Given the description of an element on the screen output the (x, y) to click on. 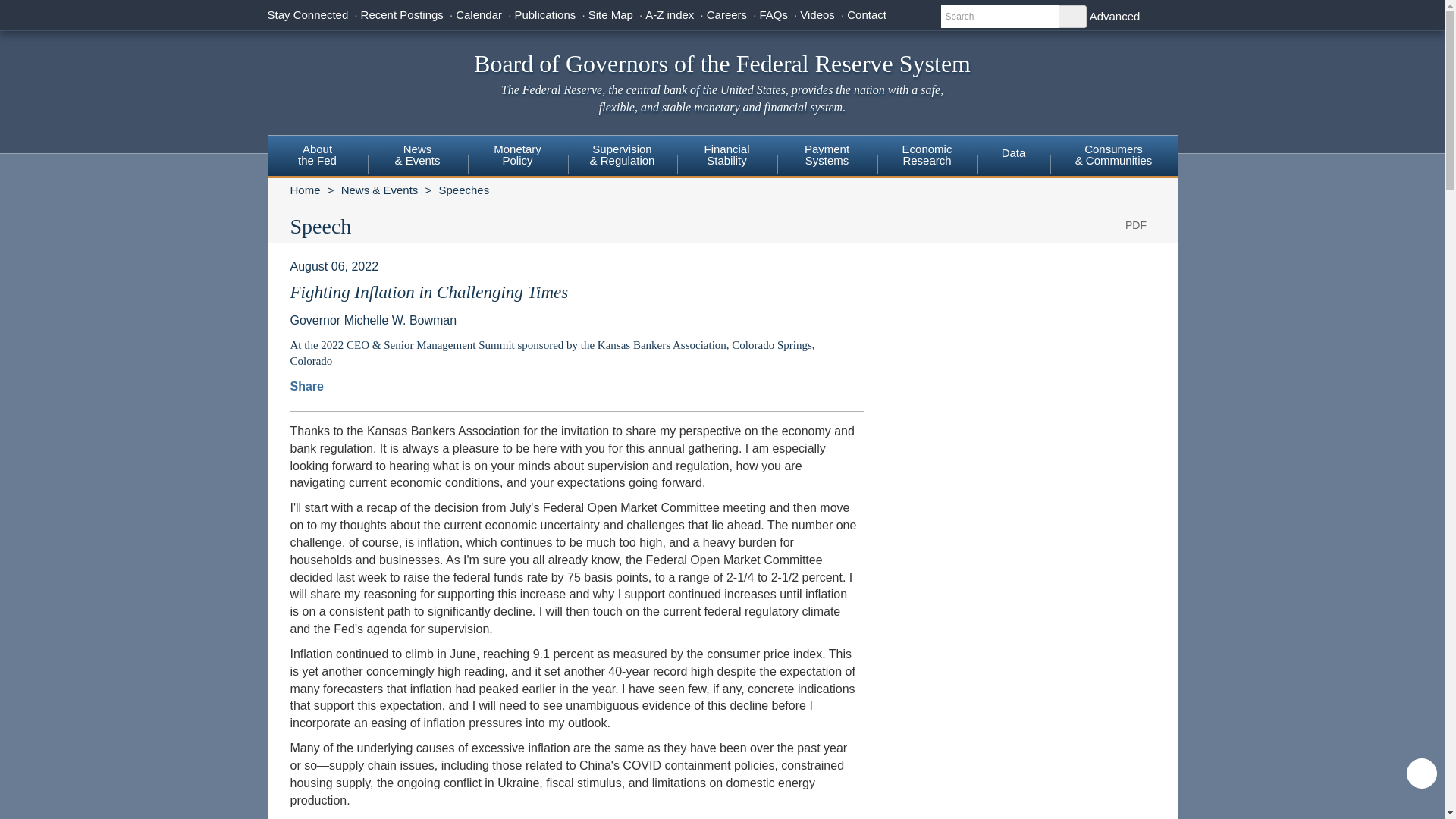
Scroll To Top (1421, 773)
